Given the description of an element on the screen output the (x, y) to click on. 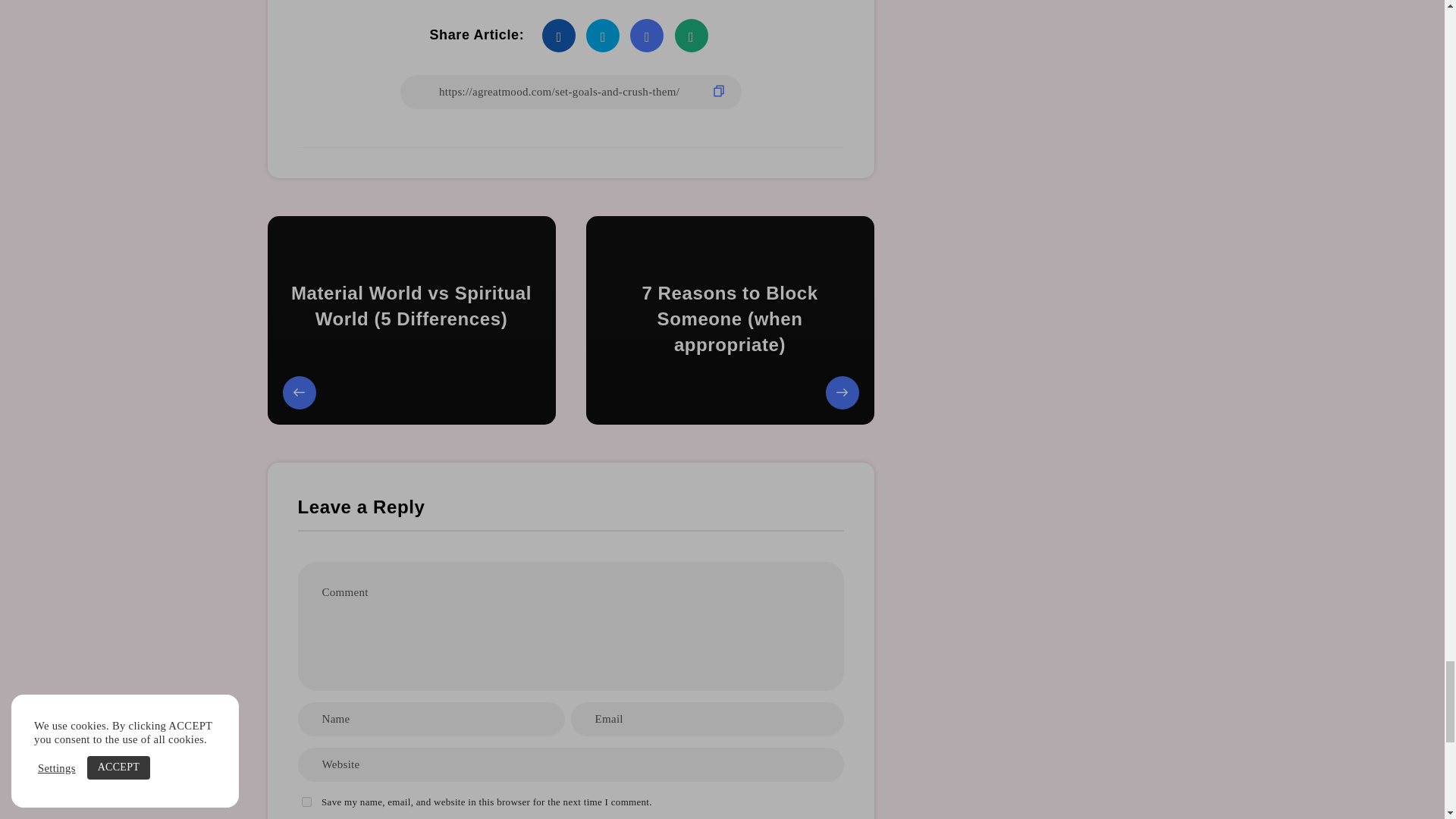
yes (306, 801)
